Given the description of an element on the screen output the (x, y) to click on. 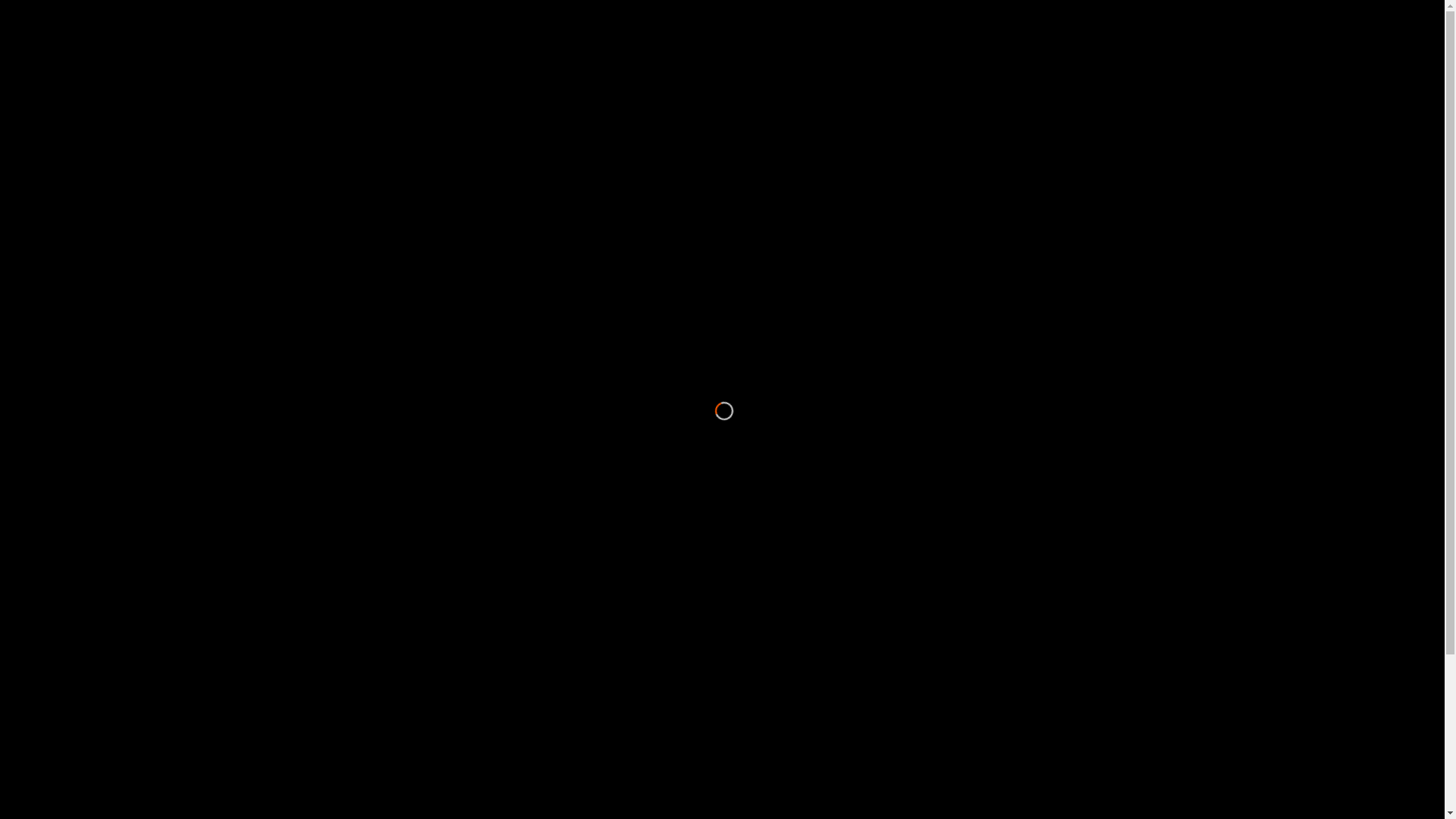
Technology Element type: text (830, 752)
Remanufactured Element type: text (597, 726)
Parts Online Element type: text (597, 804)
ConSol Terms and Conditions Element type: text (830, 726)
Wheel Loaders Element type: text (363, 648)
Excavators Element type: text (363, 596)
Technical Support Element type: text (830, 622)
Used Equipment Element type: text (363, 700)
ConSol Element type: text (830, 700)
Premium Service Agreement Element type: text (830, 674)
Careers Element type: text (1065, 596)
Management Element type: text (1065, 674)
Hoses Element type: text (597, 700)
Ground Engaging Tools Element type: text (597, 648)
Repair & Maintenance Element type: text (830, 596)
Articulated Dump Trucks Element type: text (363, 570)
Fluids Element type: text (597, 622)
Filtration Element type: text (597, 596)
Available Positions Element type: text (1065, 570)
Mining Element type: text (597, 752)
contact us Element type: text (897, 228)
Customer Training Element type: text (830, 648)
Our Legacy Element type: text (1065, 648)
Wenco Element type: text (830, 778)
Rigid Dump Trucks Element type: text (363, 622)
Magazine Element type: text (1065, 622)
Undercarriage Element type: text (597, 674)
Construction Element type: text (597, 778)
Support Element type: text (830, 570)
ConSite Element type: text (830, 804)
Genuine Element type: text (597, 570)
